Given the description of an element on the screen output the (x, y) to click on. 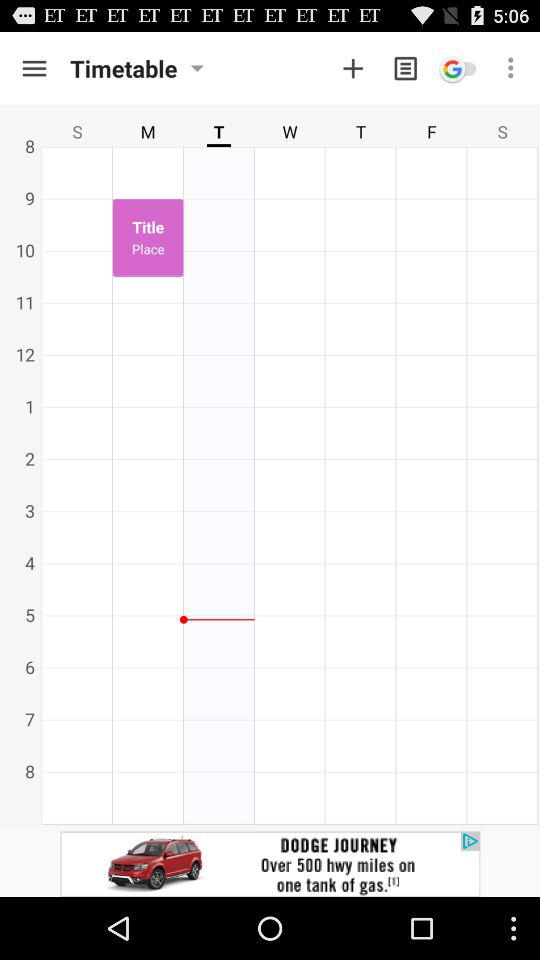
go to icon (458, 68)
